Given the description of an element on the screen output the (x, y) to click on. 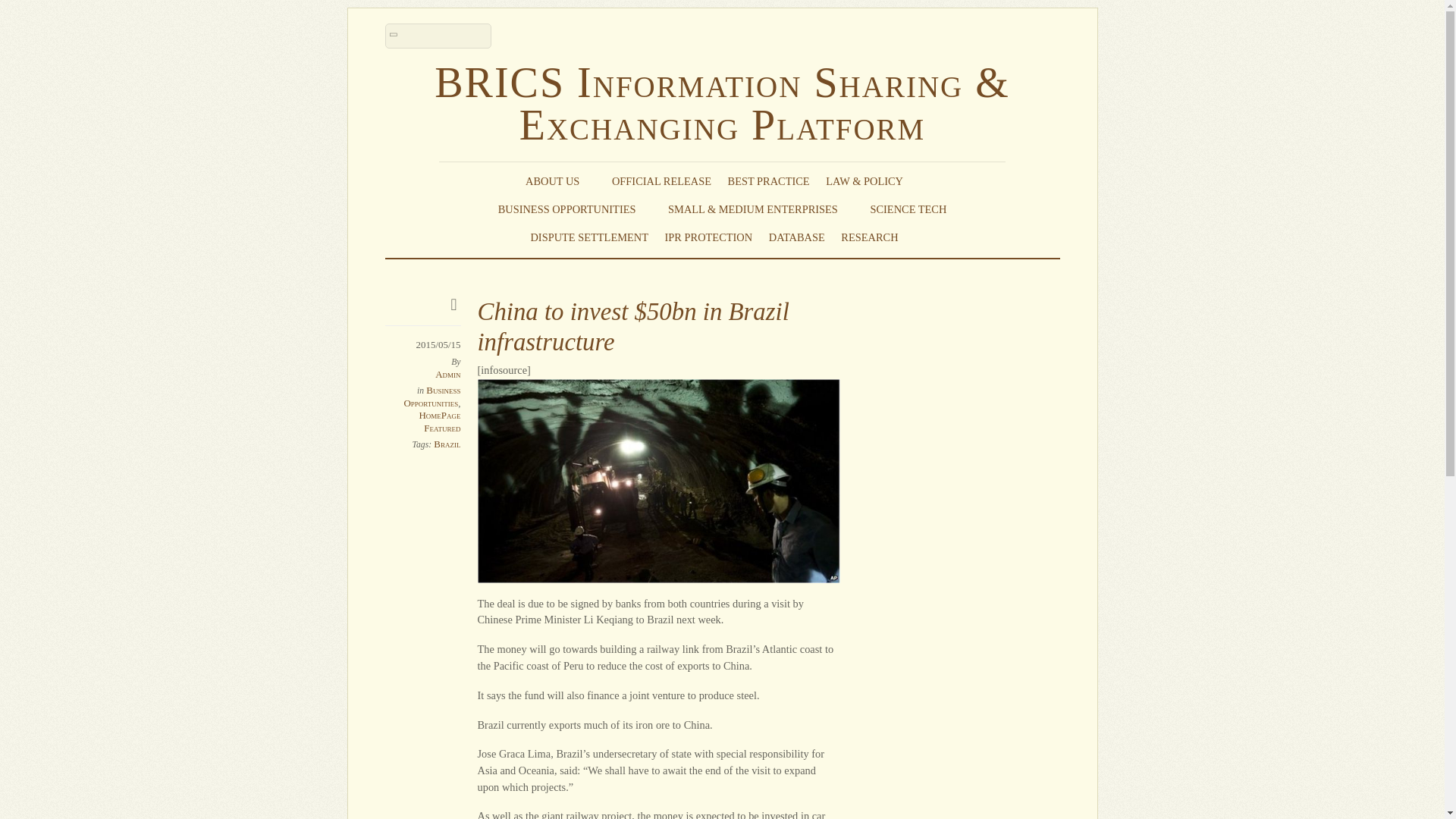
BUSINESS OPPORTUNITIES (575, 209)
DISPUTE SETTLEMENT (588, 237)
OFFICIAL RELEASE (661, 180)
Admin (447, 374)
BEST PRACTICE (768, 180)
ABOUT US (559, 180)
RESEARCH (877, 237)
IPR PROTECTION (709, 237)
SCIENCE TECH (908, 209)
Brazil (446, 443)
DATABASE (796, 237)
Business Opportunities (431, 396)
Search (438, 35)
HomePage Featured (439, 421)
